Given the description of an element on the screen output the (x, y) to click on. 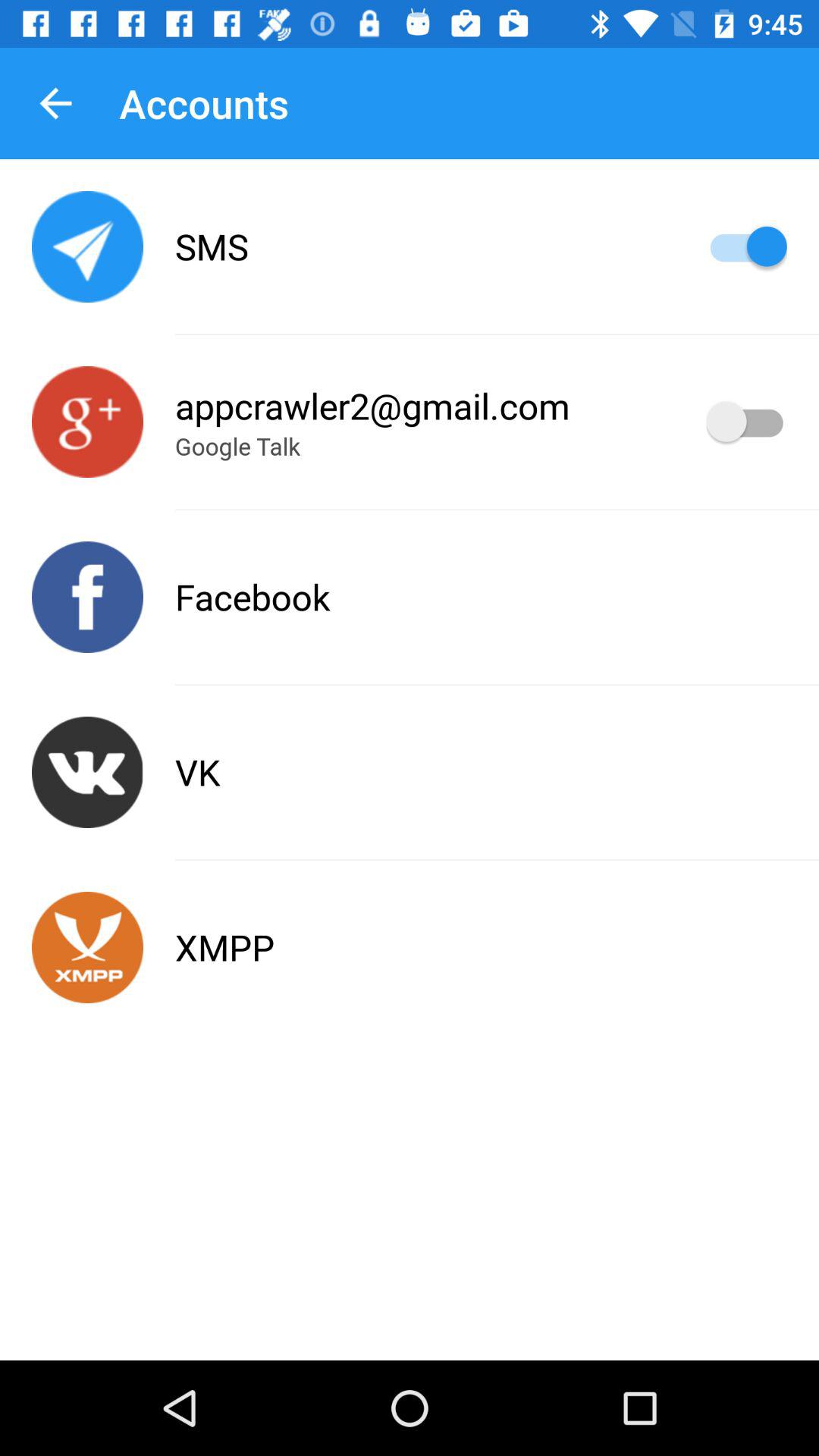
tap item to the left of accounts item (55, 103)
